Given the description of an element on the screen output the (x, y) to click on. 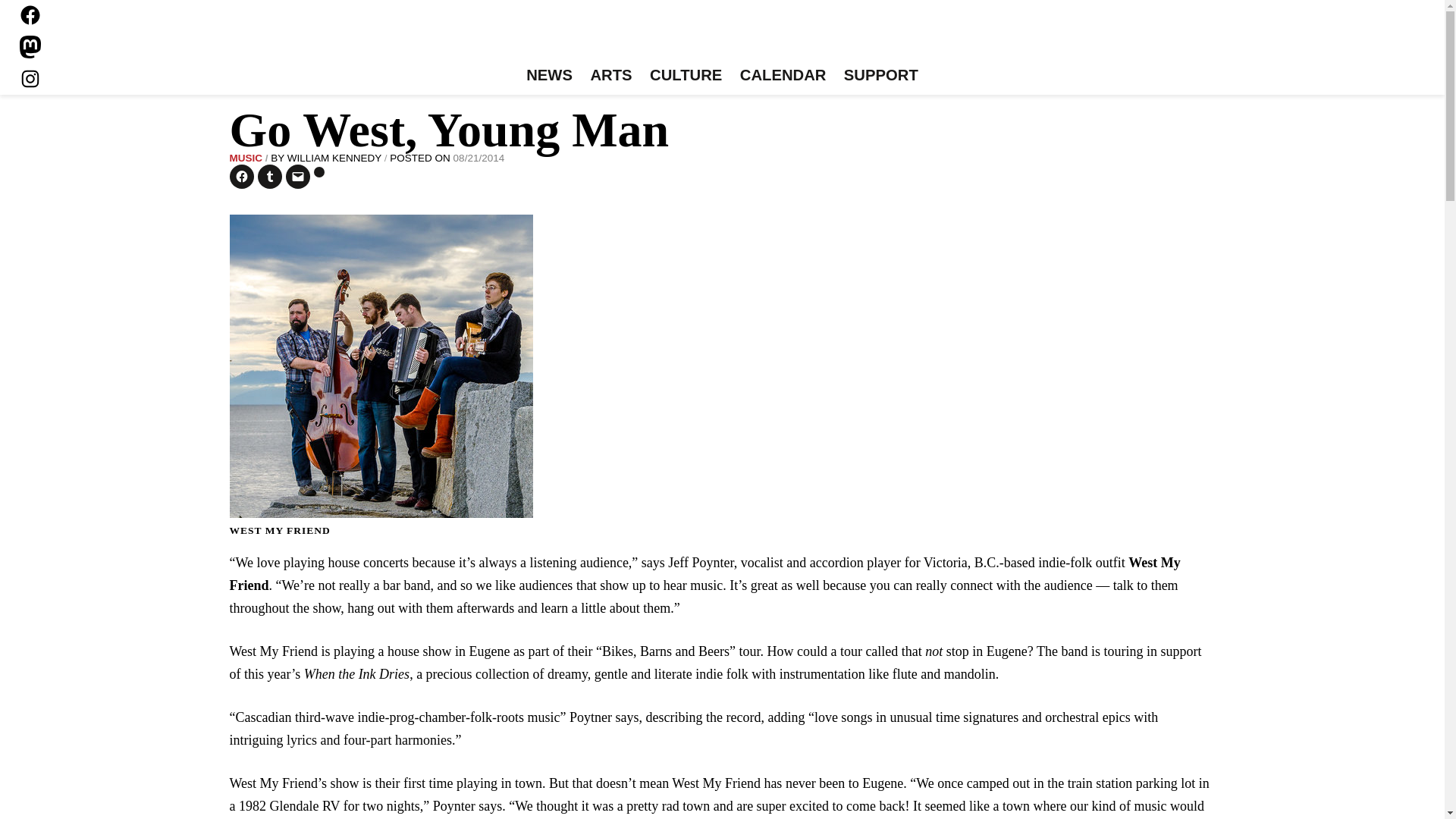
Click to print (319, 172)
Facebook (30, 15)
Click to share on Tumblr (269, 176)
NEWS (548, 75)
SUPPORT (880, 75)
Instagram (30, 78)
Eugene Weekly (721, 37)
Mastodon (30, 47)
Click to email a link to a friend (296, 176)
CALENDAR (782, 75)
CULTURE (685, 75)
Click to share on Facebook (240, 176)
ARTS (611, 75)
